Given the description of an element on the screen output the (x, y) to click on. 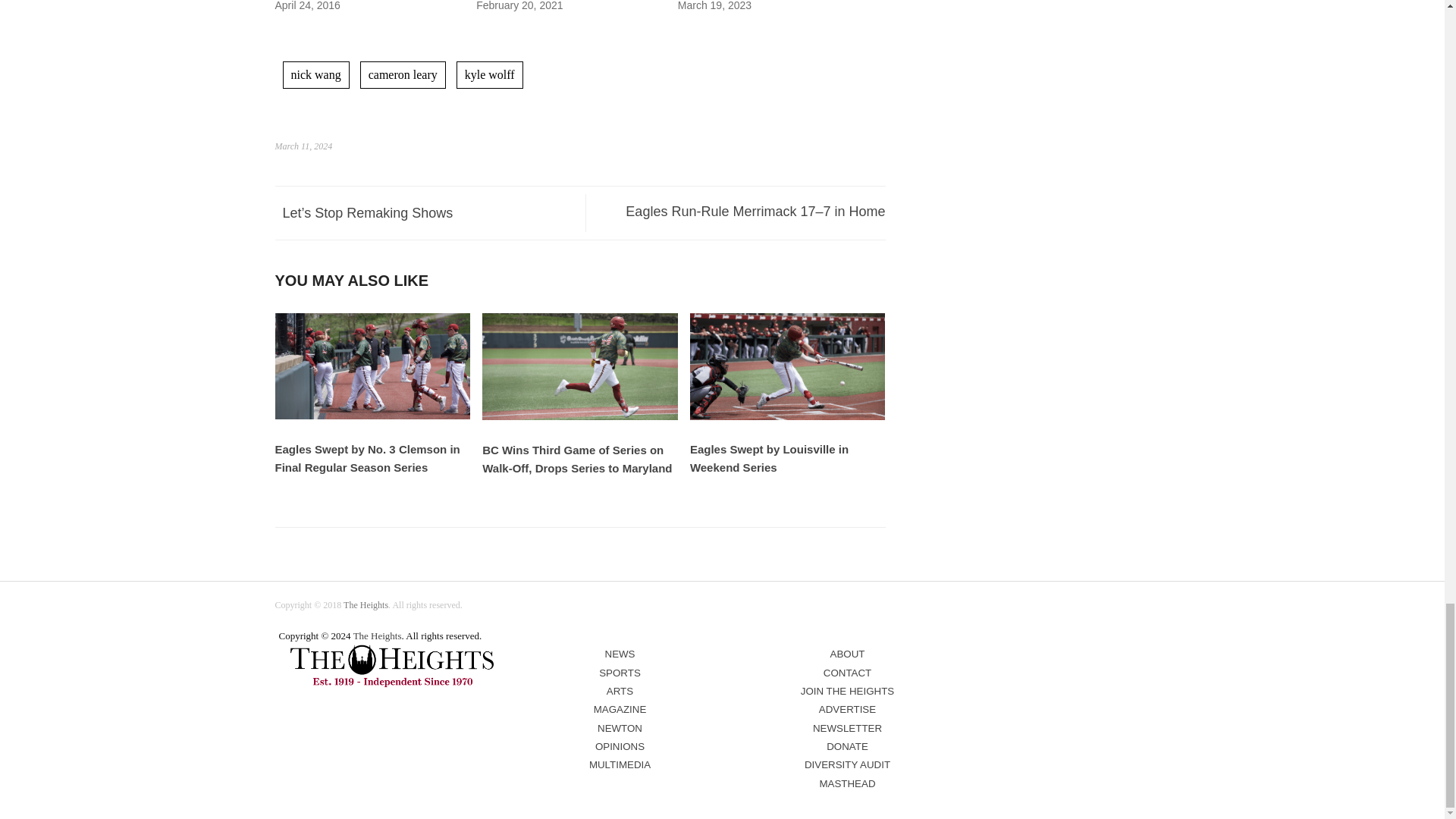
Eagles Swept by No. 3 Clemson in Final Regular Season Series (372, 415)
cameron leary (402, 74)
compromise2 (392, 666)
nick wang (315, 74)
Eagles Swept by Louisville in Weekend Series (787, 416)
The Heights (365, 604)
The Heights (377, 635)
